Given the description of an element on the screen output the (x, y) to click on. 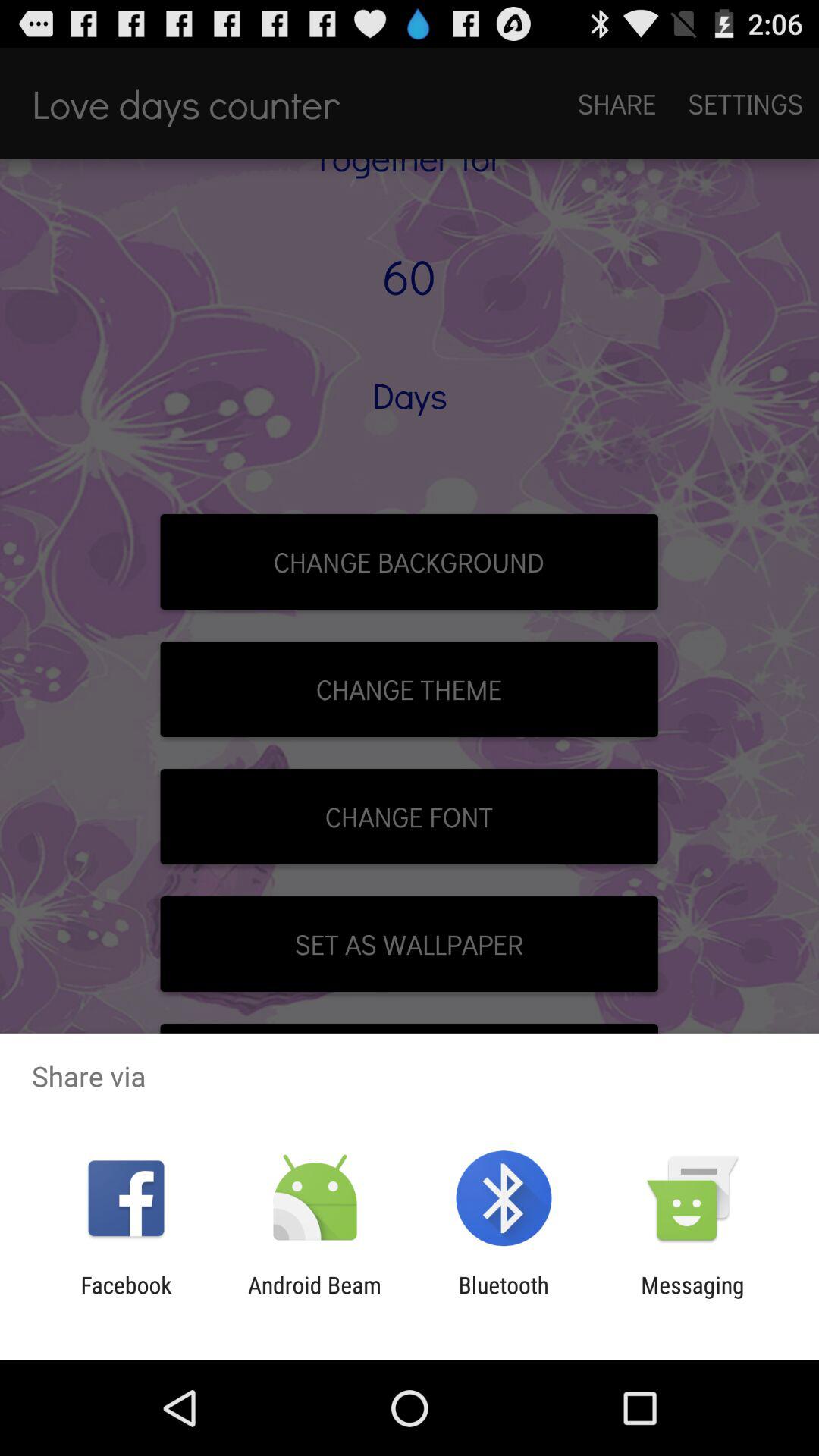
flip until the android beam (314, 1298)
